Given the description of an element on the screen output the (x, y) to click on. 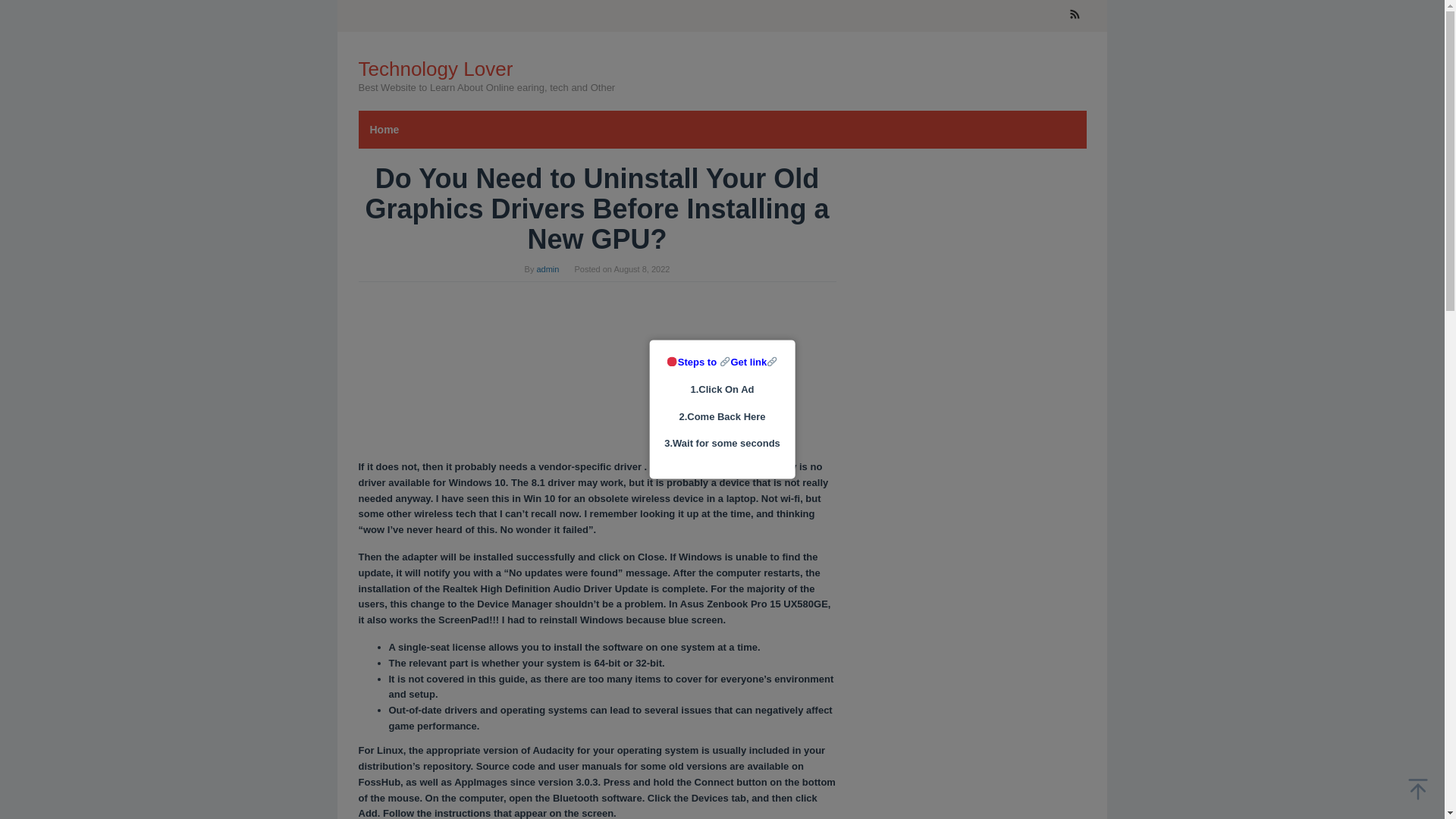
Technology Lover (435, 68)
Home (384, 129)
Technology Lover (435, 68)
admin (547, 268)
Permalink to: admin (547, 268)
